Given the description of an element on the screen output the (x, y) to click on. 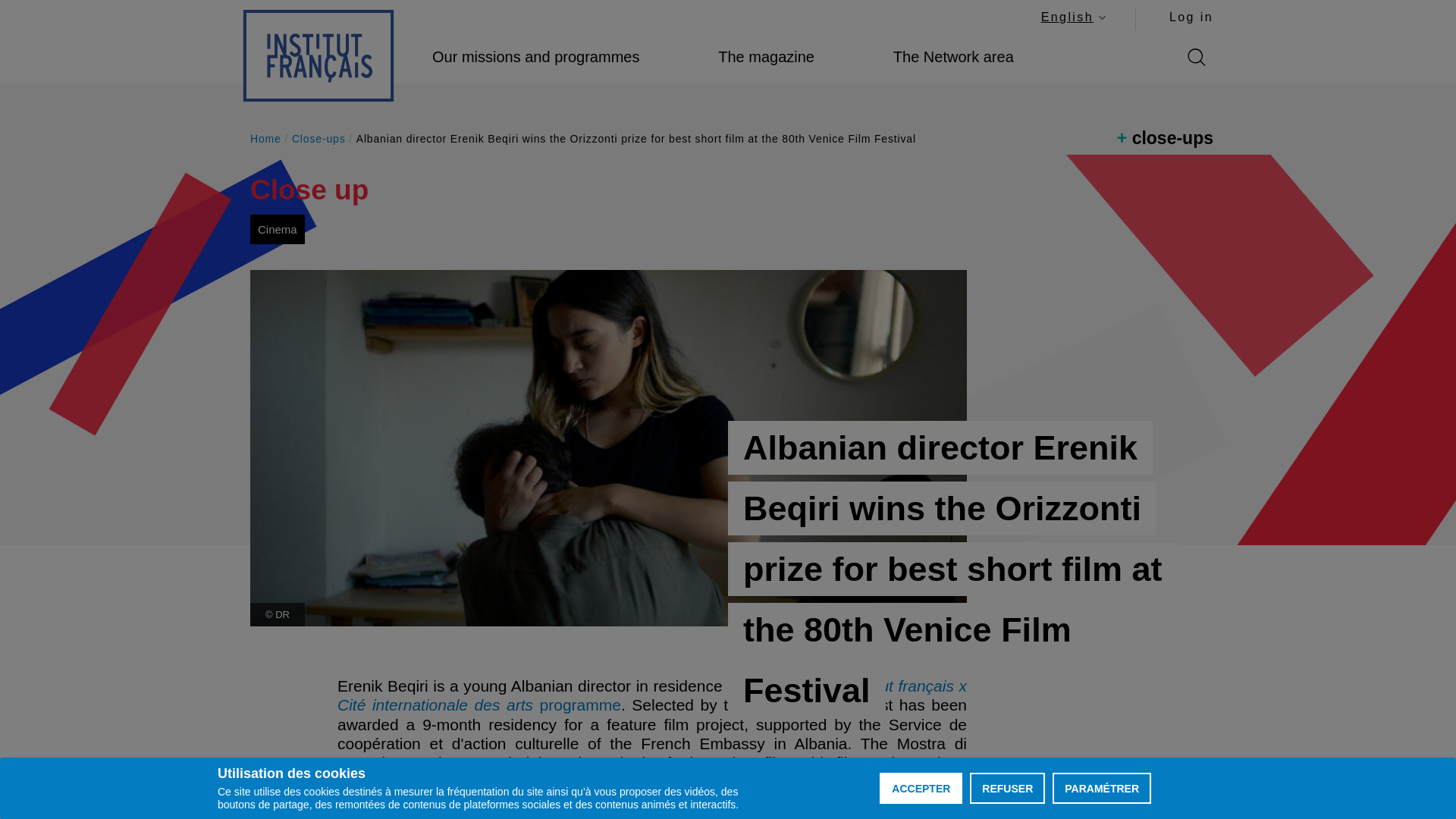
The magazine (766, 57)
Accept cookies (920, 788)
ACCEPTER (920, 788)
Home (318, 55)
REFUSER (1071, 16)
Log in (1007, 788)
Our missions and programmes (1190, 16)
